Given the description of an element on the screen output the (x, y) to click on. 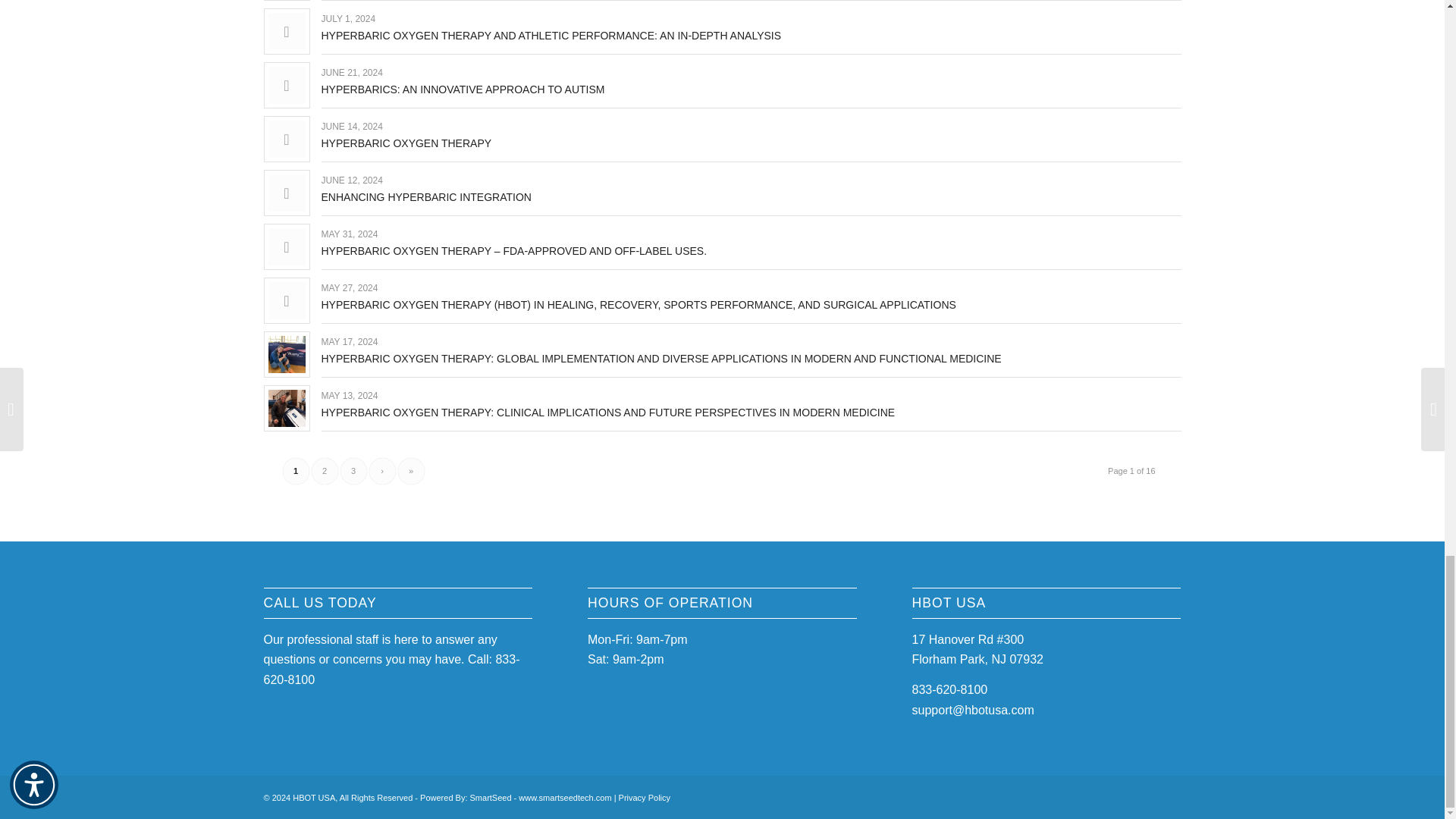
HYPERBARIC OXYGEN THERAPY (406, 143)
HYPERBARICS: AN INNOVATIVE APPROACH TO AUTISM (463, 89)
3 (352, 470)
2 (324, 470)
ENHANCING HYPERBARIC INTEGRATION (426, 196)
